Given the description of an element on the screen output the (x, y) to click on. 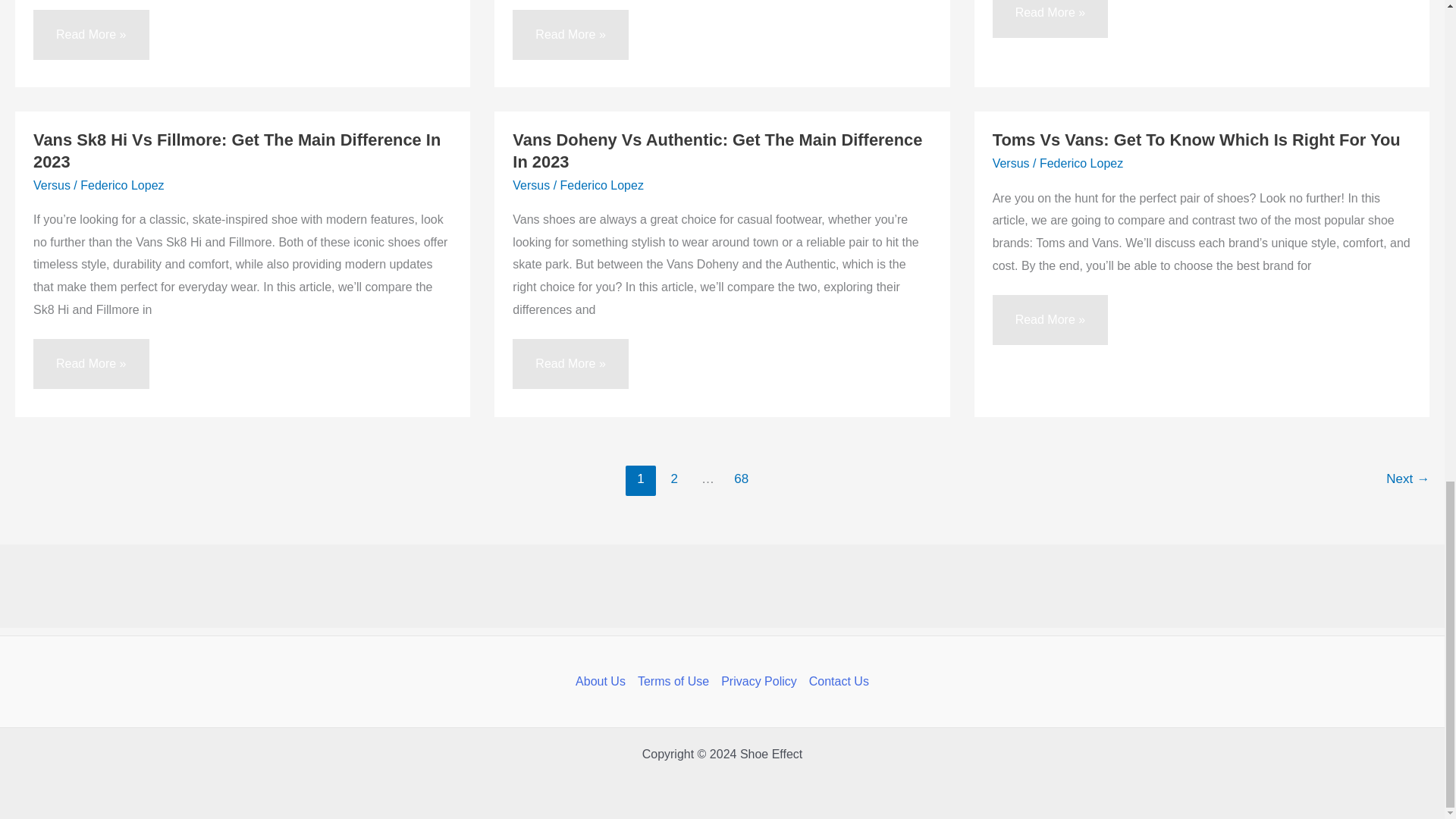
View all posts by Federico Lopez (601, 185)
View all posts by Federico Lopez (1080, 163)
View all posts by Federico Lopez (121, 185)
